Given the description of an element on the screen output the (x, y) to click on. 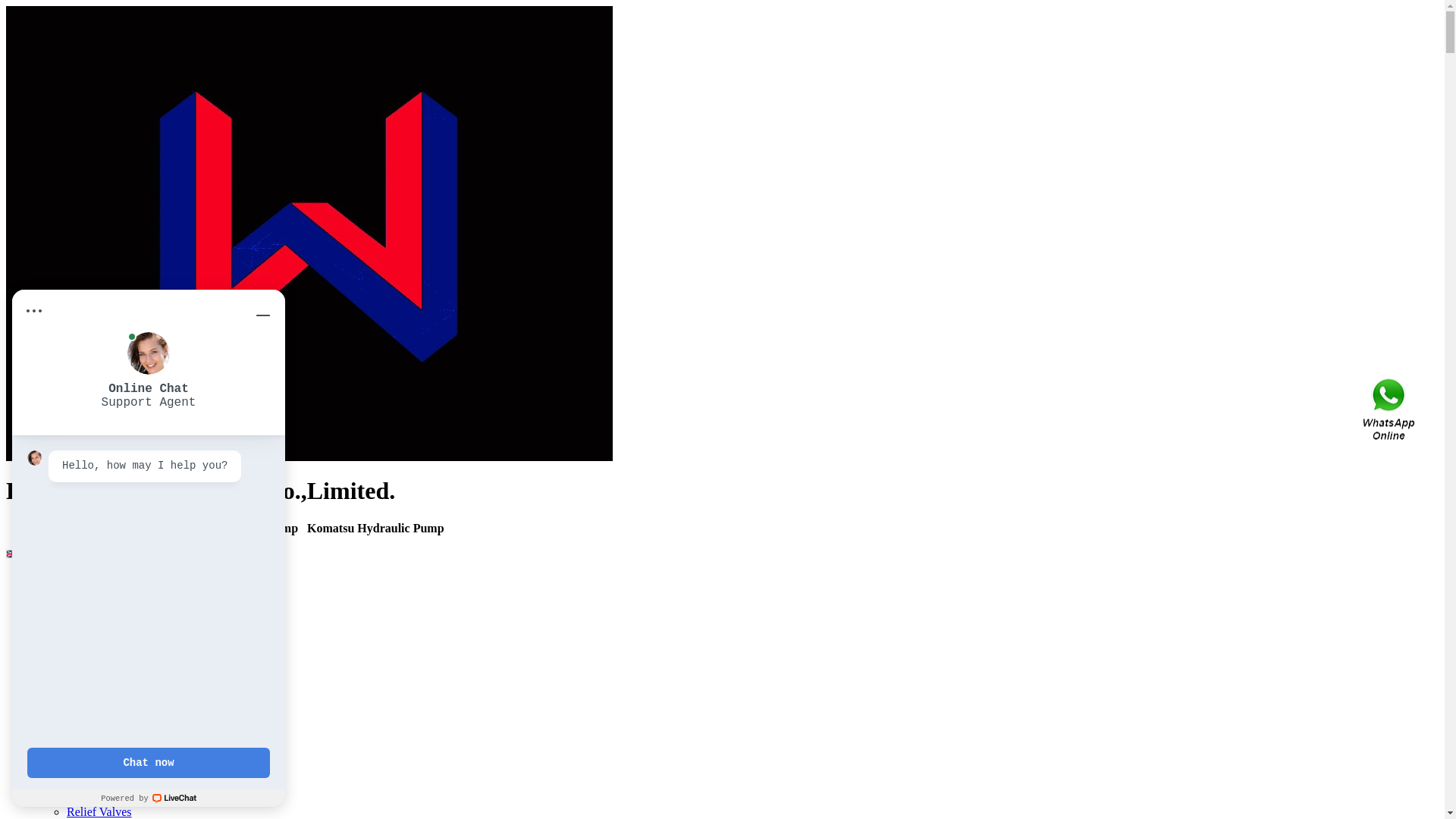
Check Valves Element type: text (99, 797)
Relief Valves Element type: text (98, 811)
Hydraulic Pump in stock Element type: text (127, 743)
Leader Hydraulic Pump Co.,Limited. Element type: hover (309, 456)
Stock Categories Element type: text (77, 592)
Vane pumps Element type: text (96, 702)
Control Valves Element type: text (102, 784)
Contact Us Element type: hover (1389, 409)
Linde Hydraulic Pump Element type: text (122, 647)
Hitachi Hydraulic Pump Element type: text (125, 661)
Piston Pumps Element type: text (99, 729)
Komatsu Hydraulic Pump Element type: text (129, 633)
Bosch Hydraulic Pump Element type: text (122, 620)
Solenoid Directional Valves Element type: text (134, 770)
Rexroth Hydraulic Pump Element type: text (127, 606)
Home Element type: text (50, 579)
Sauer Danfoss Hydraulic Pump Element type: text (142, 688)
Gear Pumps Element type: text (96, 715)
Eaton Hydraulic Pump Element type: text (122, 674)
Pressure Valves Element type: text (104, 756)
